Given the description of an element on the screen output the (x, y) to click on. 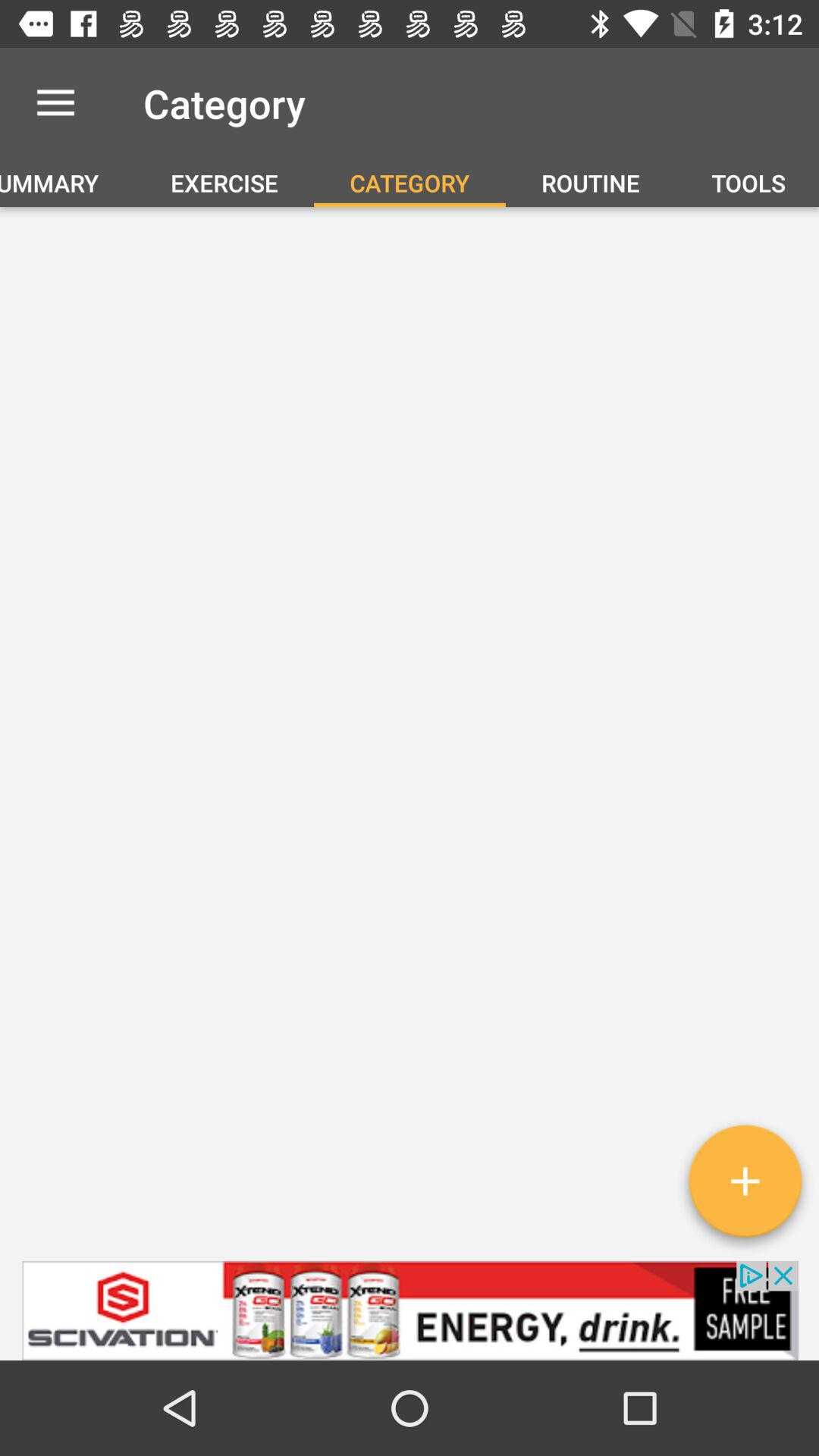
add the category (745, 1186)
